Given the description of an element on the screen output the (x, y) to click on. 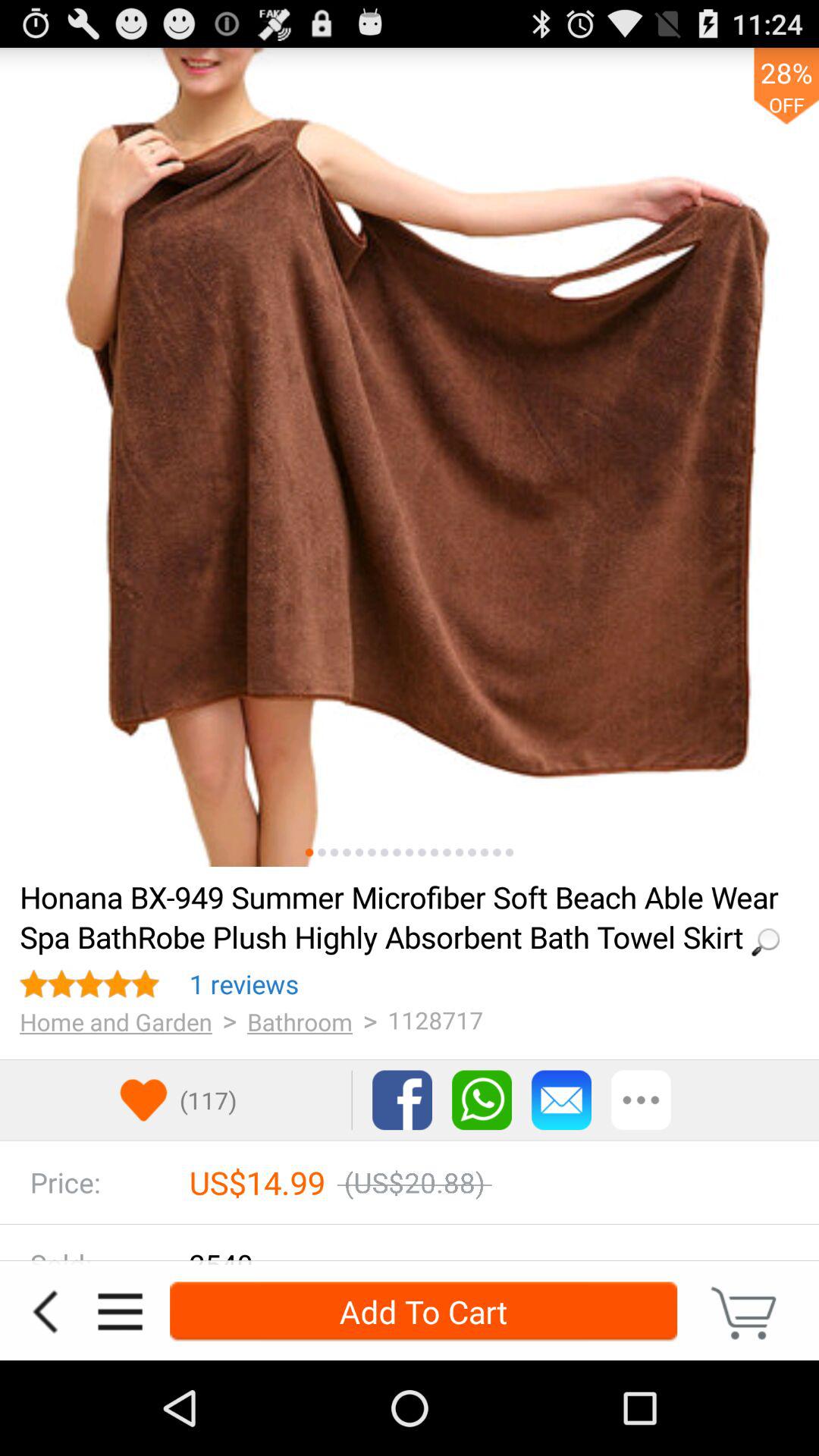
open next image (434, 852)
